Given the description of an element on the screen output the (x, y) to click on. 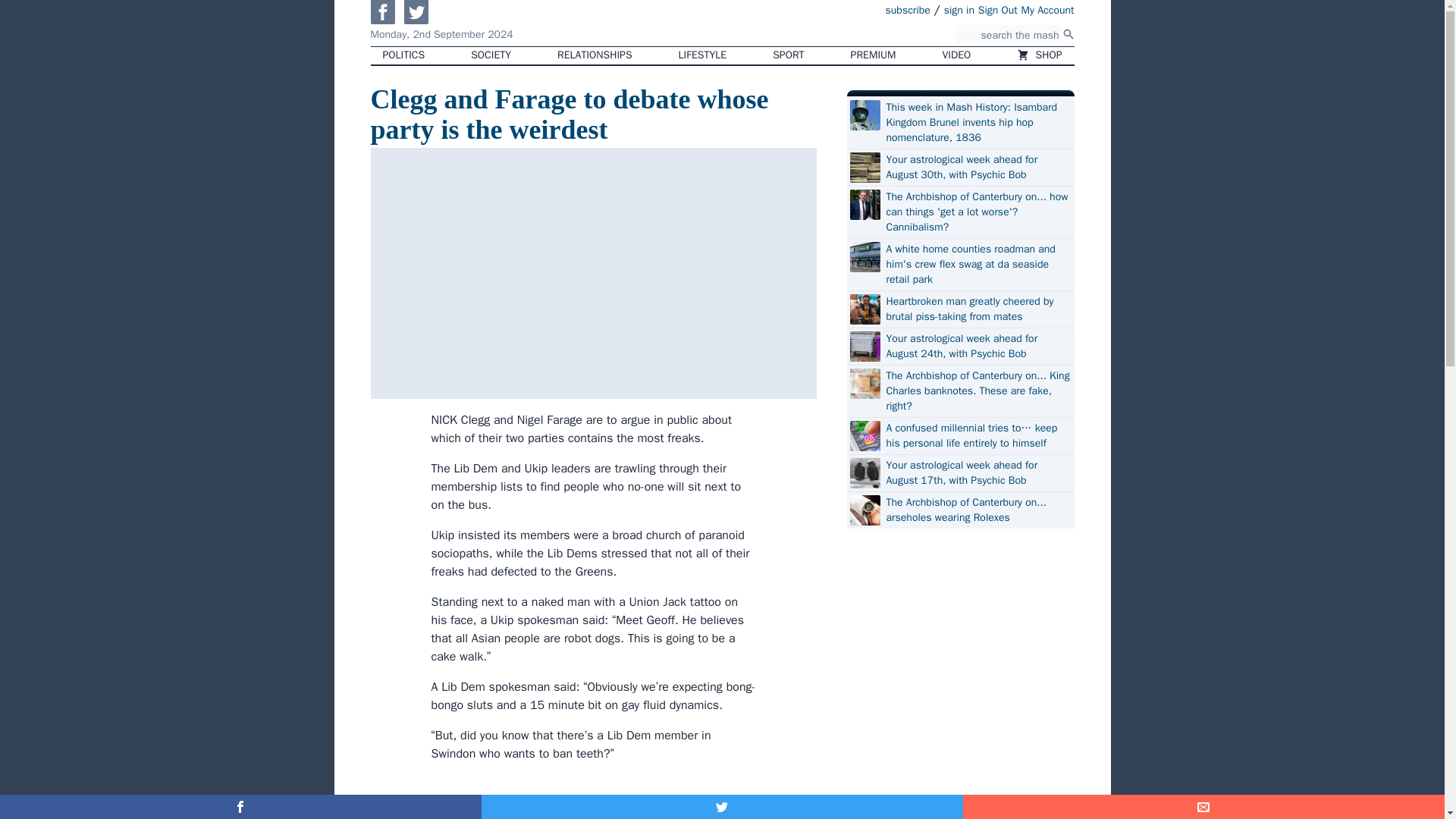
subscribe (907, 9)
SPORT (787, 55)
sign in (958, 9)
SOCIETY (490, 55)
SHOP (1039, 55)
PREMIUM (873, 55)
RELATIONSHIPS (593, 55)
